Given the description of an element on the screen output the (x, y) to click on. 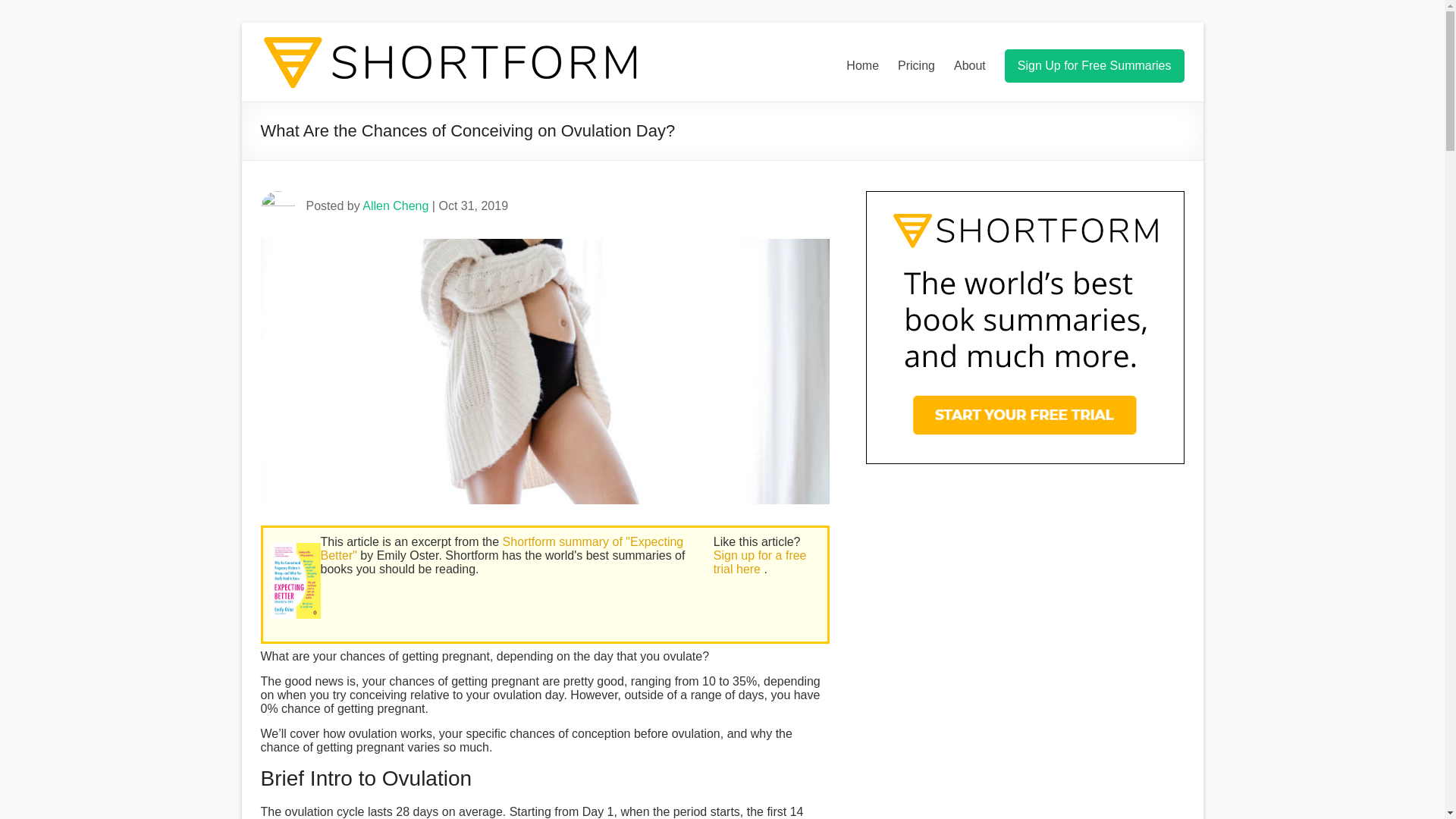
About (969, 65)
Pricing (916, 65)
Allen Cheng (395, 205)
Sign Up for Free Summaries (1094, 65)
Shortform summary of "Expecting Better" (502, 548)
Home (862, 65)
Sign up for a free trial here (759, 561)
